Given the description of an element on the screen output the (x, y) to click on. 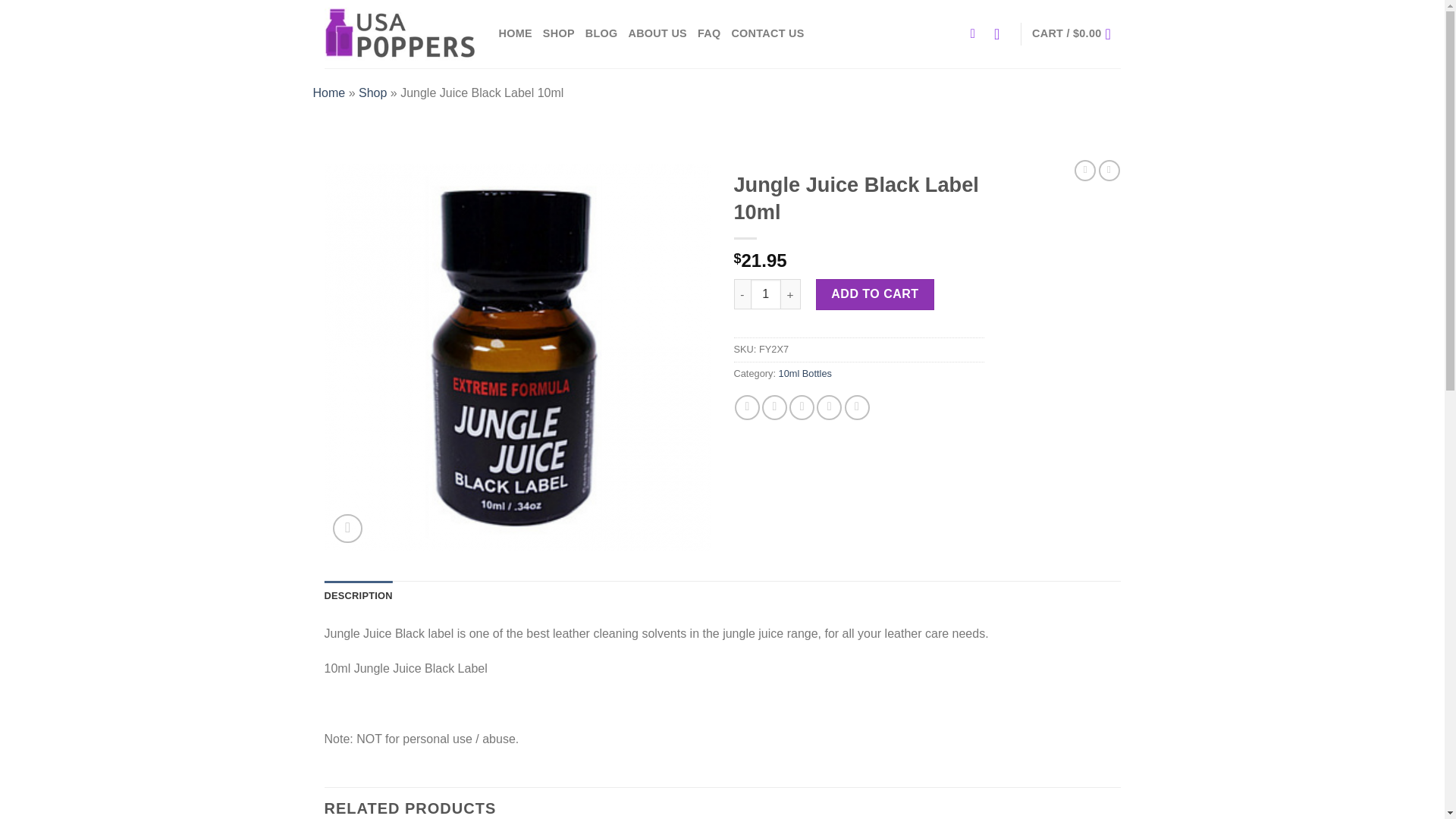
Cart (1075, 33)
Zoom (347, 528)
SHOP (559, 33)
1 (765, 294)
Email to a Friend (801, 407)
ABOUT US (656, 33)
10ml Bottles (804, 373)
Pin on Pinterest (828, 407)
USA Poppers - Online Store for Poppers (400, 33)
